Given the description of an element on the screen output the (x, y) to click on. 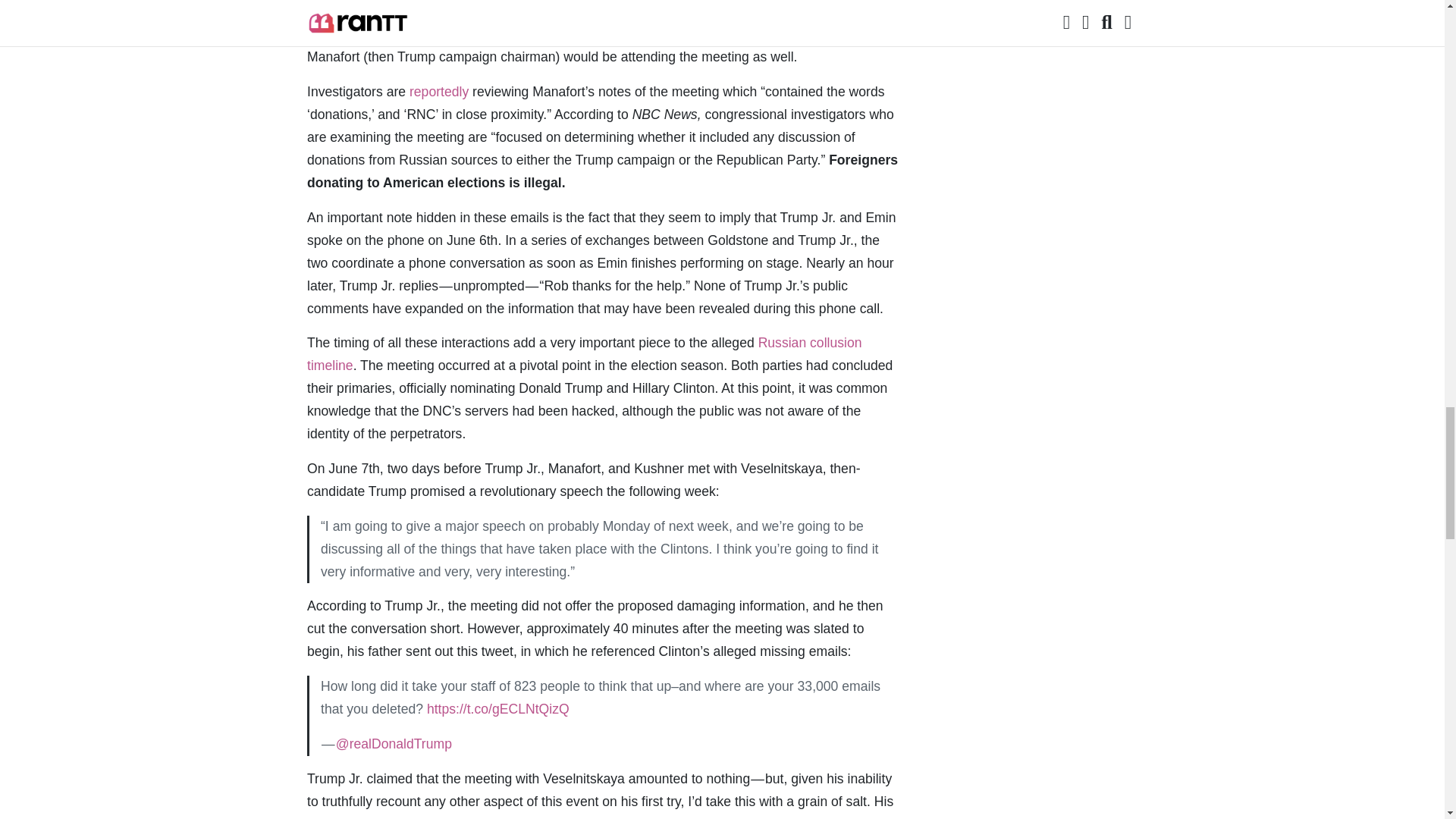
reportedly (438, 91)
reported (713, 817)
Russian collusion timeline (584, 353)
